Given the description of an element on the screen output the (x, y) to click on. 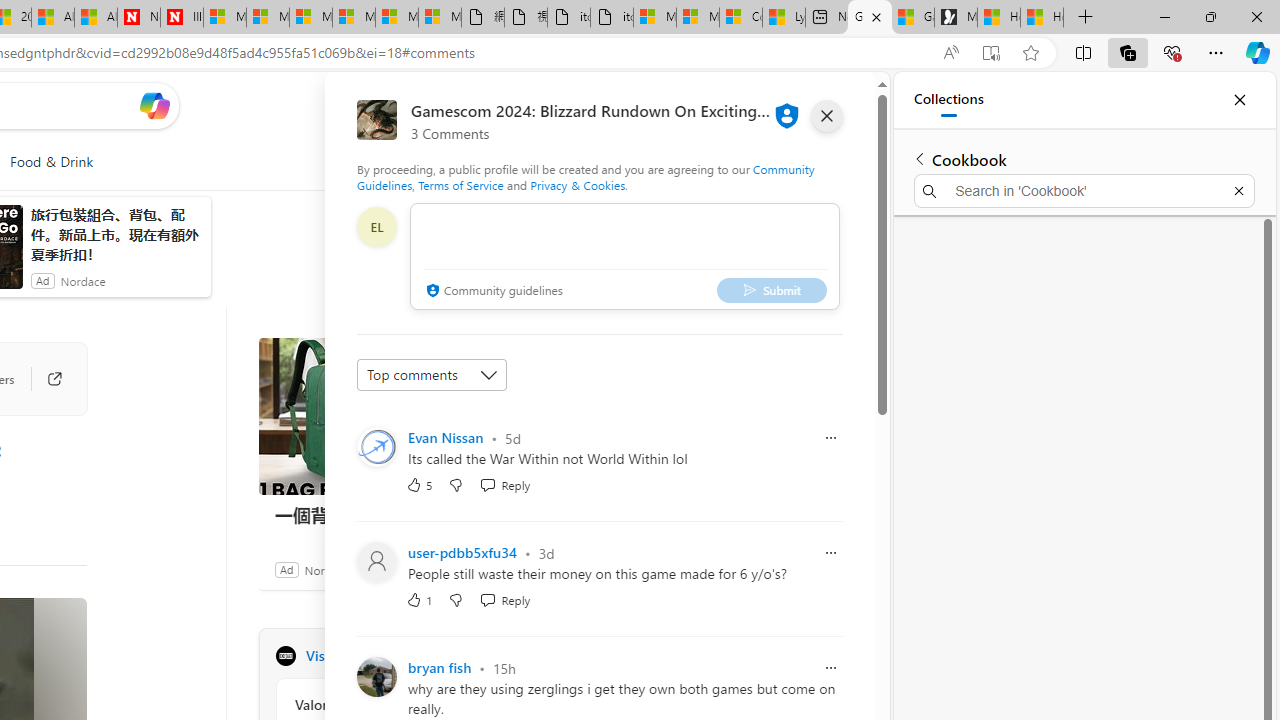
5 Like (419, 484)
1 Like (419, 600)
close (827, 115)
comment-box (624, 256)
Sort comments by (431, 374)
Food & Drink (50, 162)
Visit CGMagazine website (532, 655)
Reply Reply Comment (505, 600)
